Given the description of an element on the screen output the (x, y) to click on. 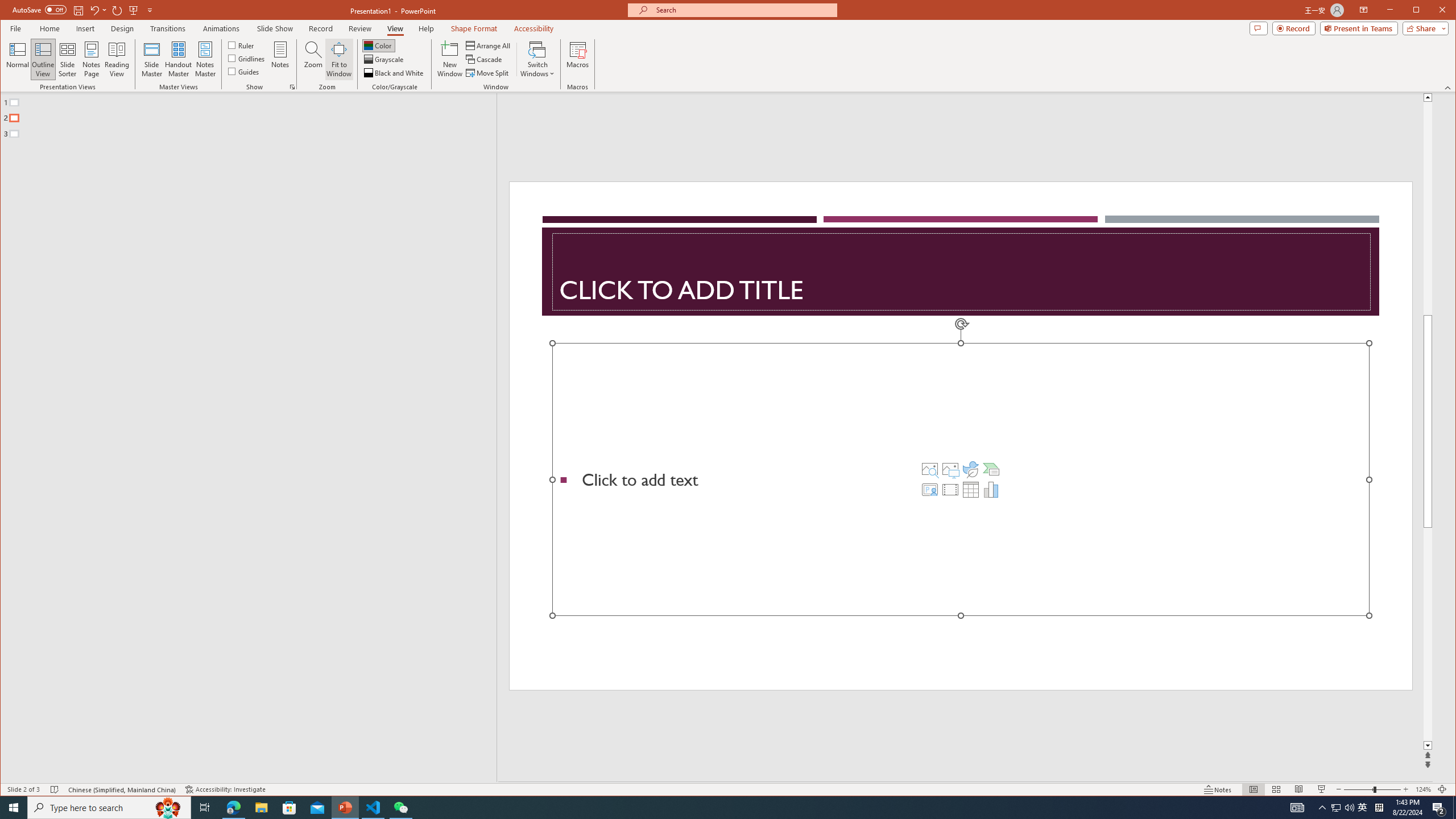
Color (378, 45)
Insert Cameo (929, 489)
Arrange All (488, 45)
Zoom 124% (1422, 789)
Handout Master (178, 59)
